Given the description of an element on the screen output the (x, y) to click on. 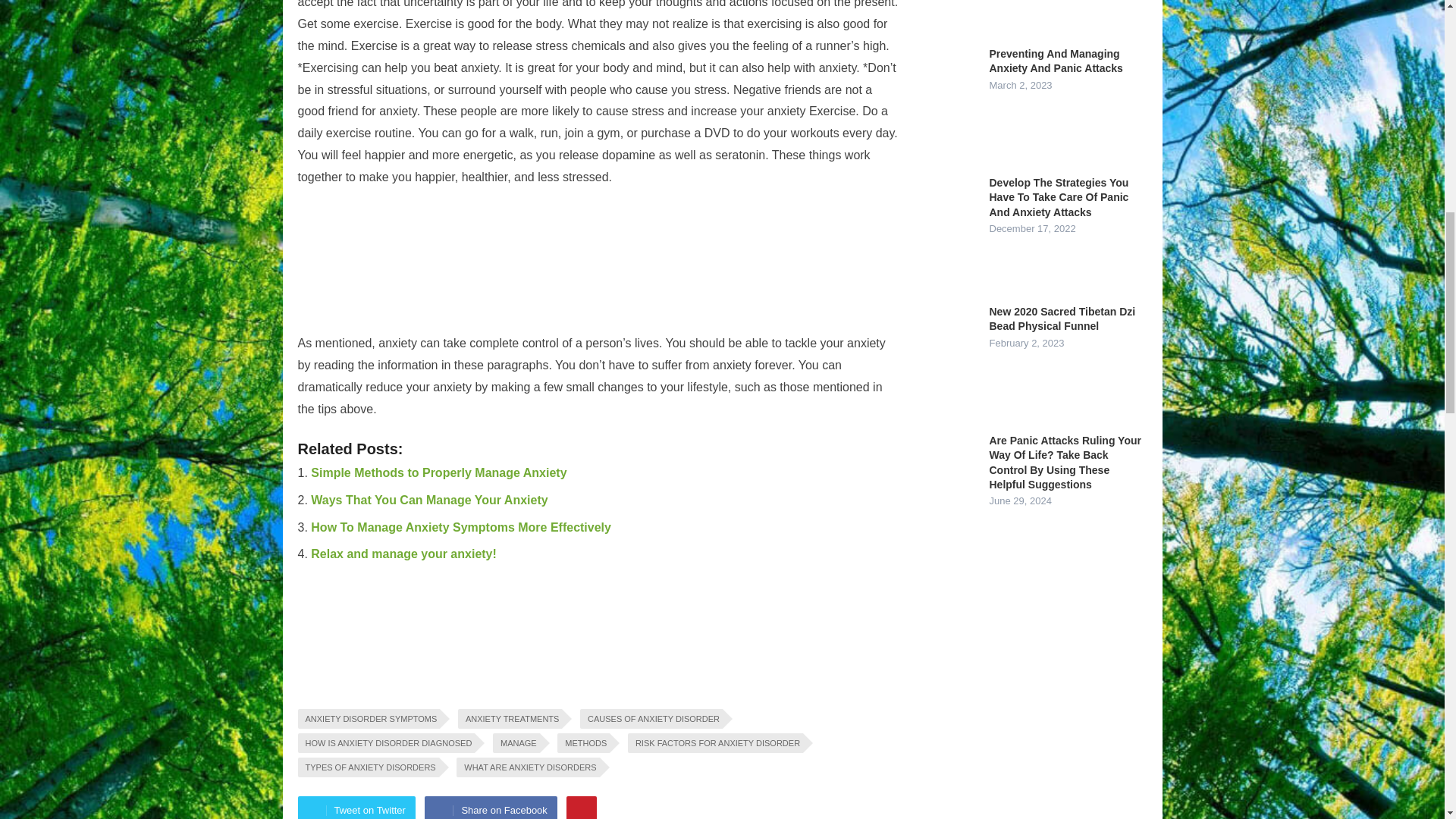
Ways That You Can Manage Your Anxiety (429, 499)
MANAGE (516, 742)
ANXIETY TREATMENTS (510, 718)
TYPES OF ANXIETY DISORDERS (367, 767)
METHODS (583, 742)
Relax and manage your anxiety! (403, 553)
Ways That You Can Manage Your Anxiety (429, 499)
How To Manage Anxiety Symptoms More Effectively (461, 526)
Simple Methods to Properly Manage Anxiety (438, 472)
HOW IS ANXIETY DISORDER DIAGNOSED (385, 742)
